Given the description of an element on the screen output the (x, y) to click on. 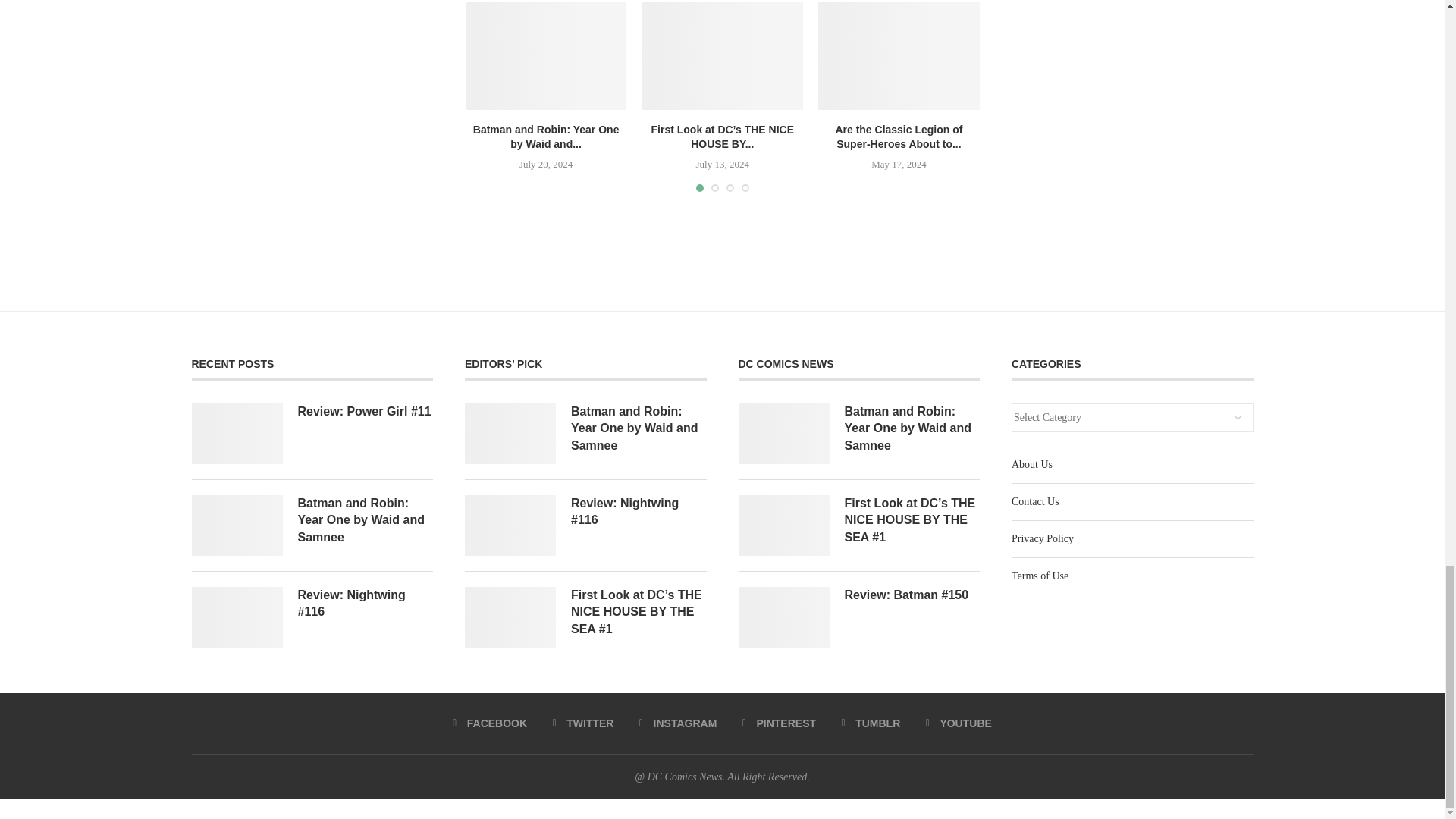
Batman and Robin: Year One by Waid and Samnee (546, 55)
